Given the description of an element on the screen output the (x, y) to click on. 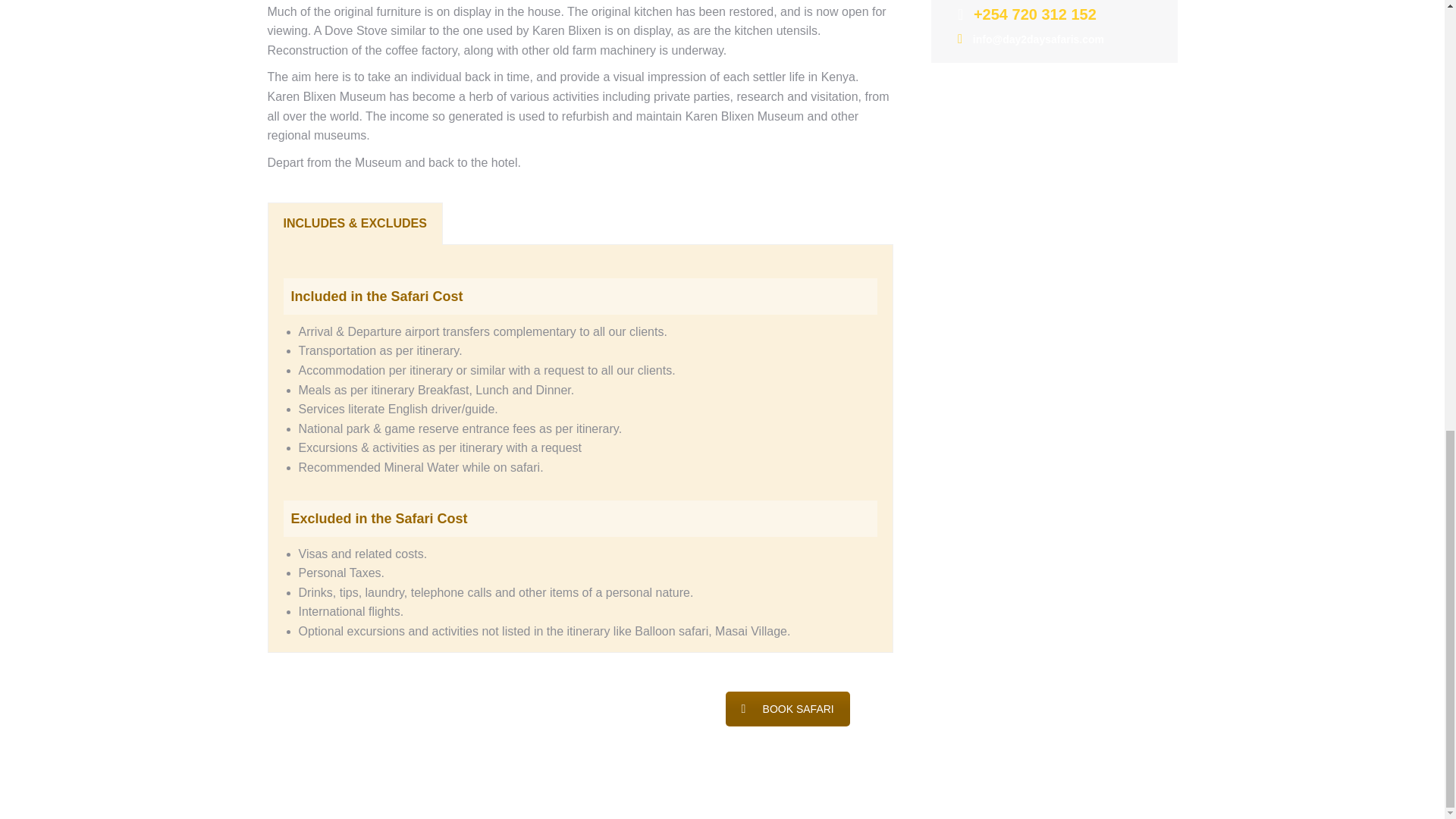
Your adventure awaits... (383, 701)
Book Now (383, 701)
BOOK SAFARI (787, 708)
